Given the description of an element on the screen output the (x, y) to click on. 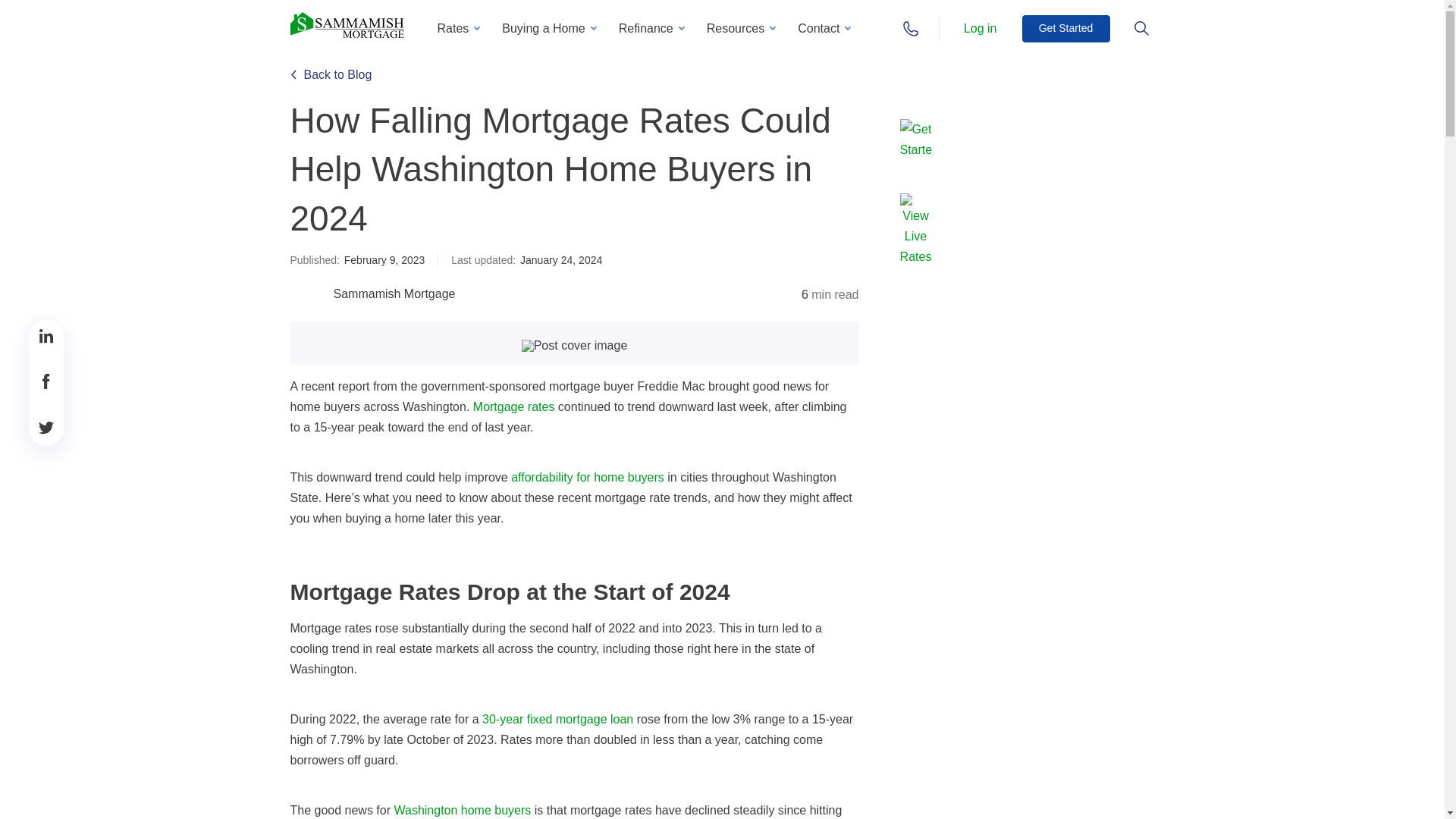
Contact (824, 27)
Refinance (651, 27)
Resources (740, 27)
Rates (458, 27)
Back to Blog (330, 74)
Buying a Home (548, 27)
Get Started (1065, 28)
Log in (979, 28)
